Given the description of an element on the screen output the (x, y) to click on. 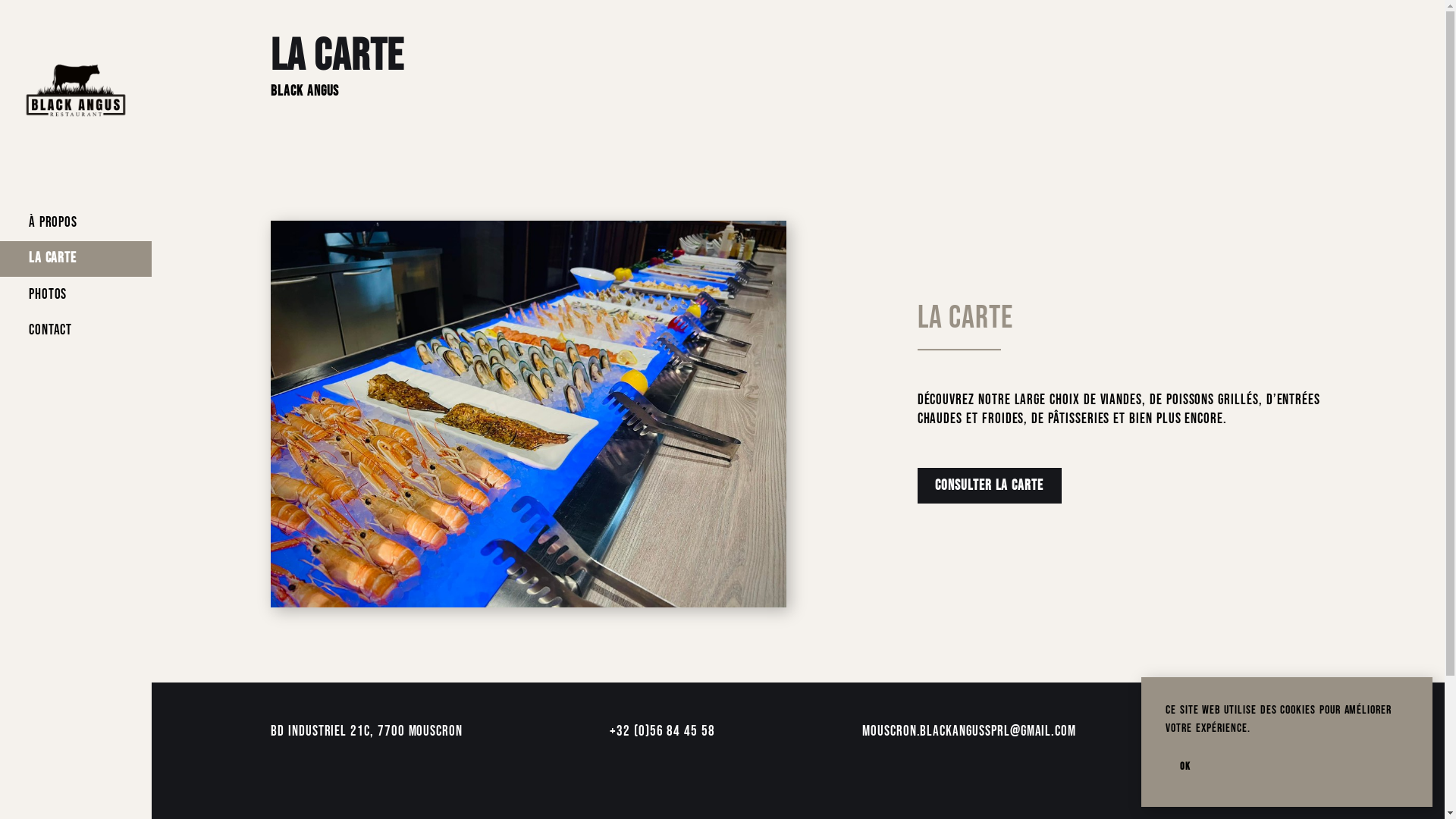
Bd Industriel 21c, 7700 Mouscron Element type: text (366, 731)
+32 (0)56 84 45 58 Element type: text (662, 731)
mouscron.blackangussprl@gmail.com Element type: text (969, 731)
PHOTOS Element type: text (75, 294)
OK Element type: text (1184, 765)
CONSULTER LA CARTE Element type: text (989, 485)
Black Angus Element type: text (1274, 731)
LA CARTE Element type: text (75, 258)
CONTACT Element type: text (75, 330)
